Given the description of an element on the screen output the (x, y) to click on. 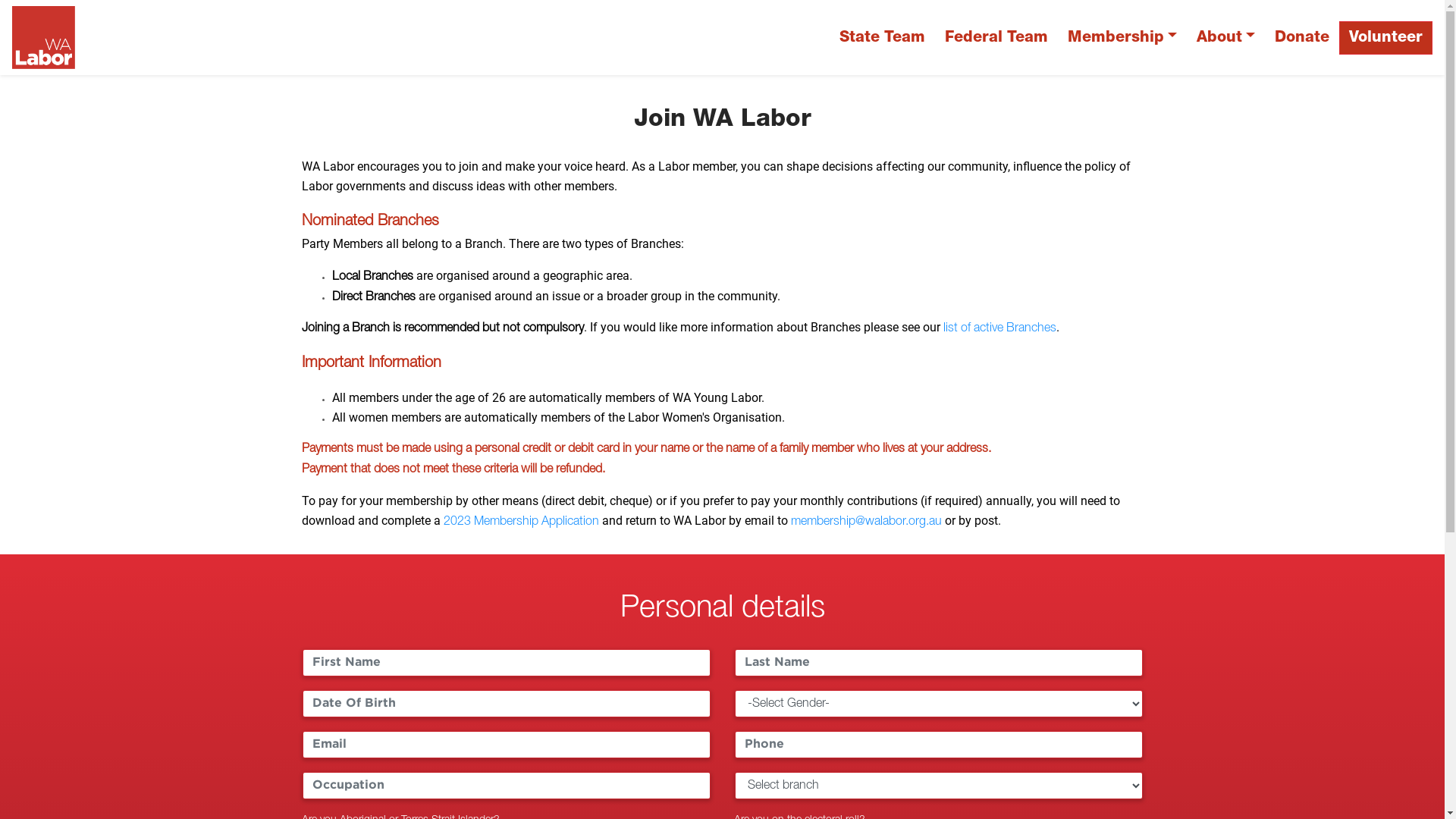
membership@walabor.org.au Element type: text (865, 521)
list of active Branches Element type: text (999, 328)
Membership Element type: text (1121, 37)
State Team Element type: text (882, 37)
Volunteer Element type: text (1385, 37)
Donate Element type: text (1301, 37)
Federal Team Element type: text (996, 37)
2023 Membership Application Element type: text (520, 521)
About Element type: text (1225, 37)
